Given the description of an element on the screen output the (x, y) to click on. 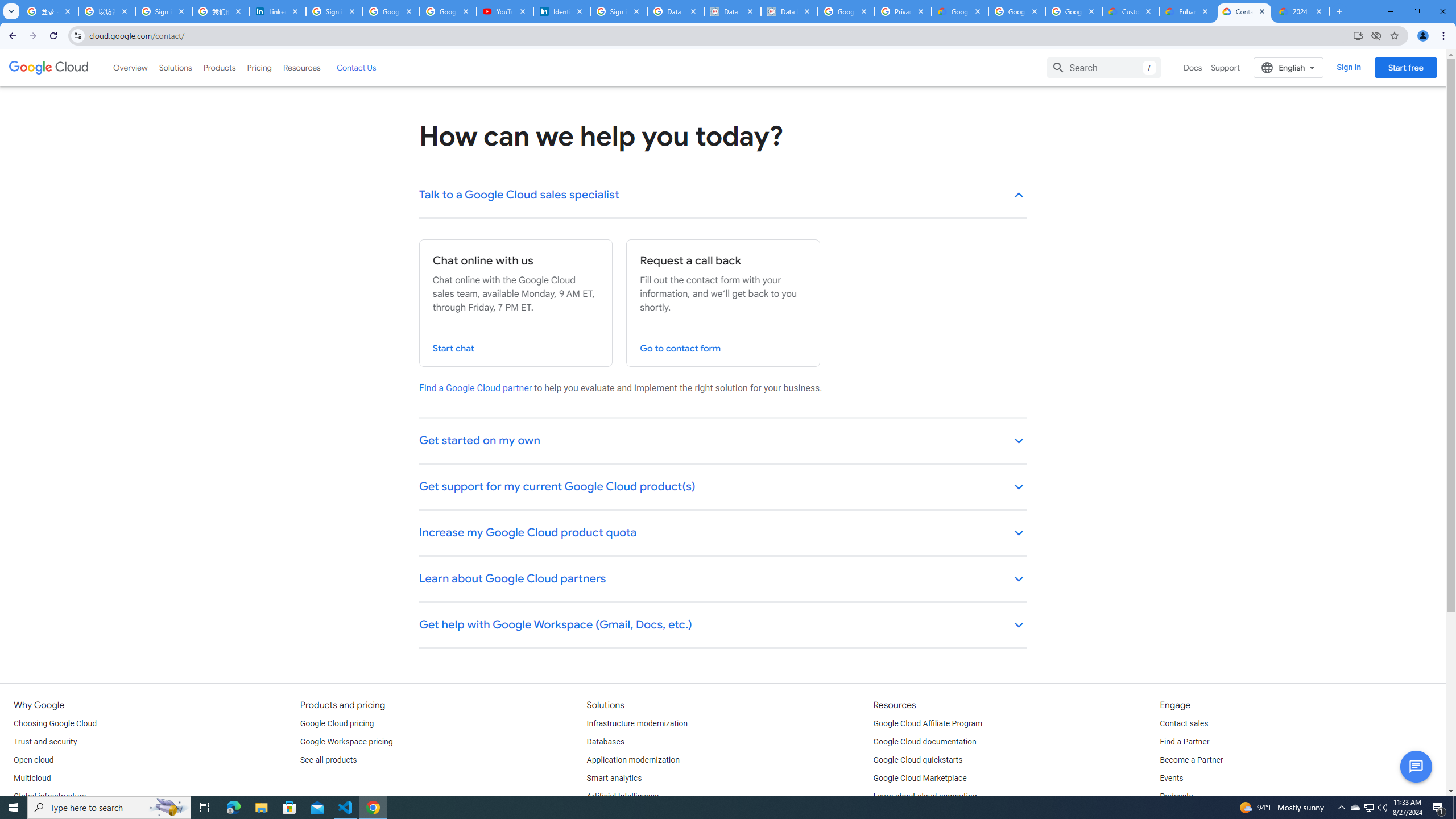
Google Cloud (48, 67)
Contact sales (1183, 723)
Google Cloud Terms Directory | Google Cloud (959, 11)
Resources (301, 67)
Data Privacy Framework (731, 11)
Infrastructure modernization (637, 723)
Google Cloud documentation (924, 742)
Google Workspace - Specific Terms (1073, 11)
